Given the description of an element on the screen output the (x, y) to click on. 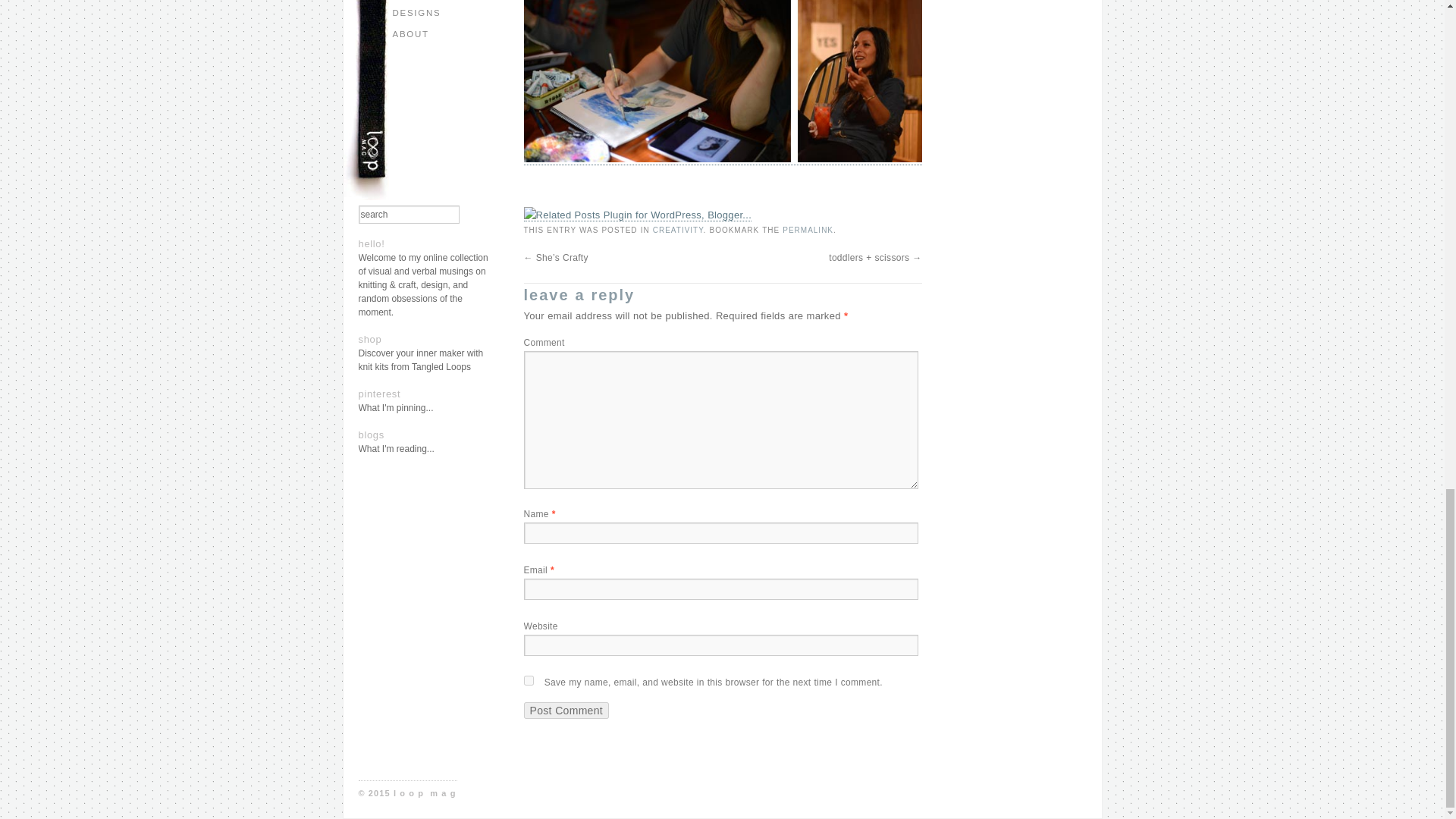
Post Comment (565, 710)
CREATIVITY (677, 230)
PERMALINK (807, 230)
yes (527, 680)
Post Comment (565, 710)
l o o p  m a g (425, 792)
Permalink to Craftcation! (807, 230)
